Given the description of an element on the screen output the (x, y) to click on. 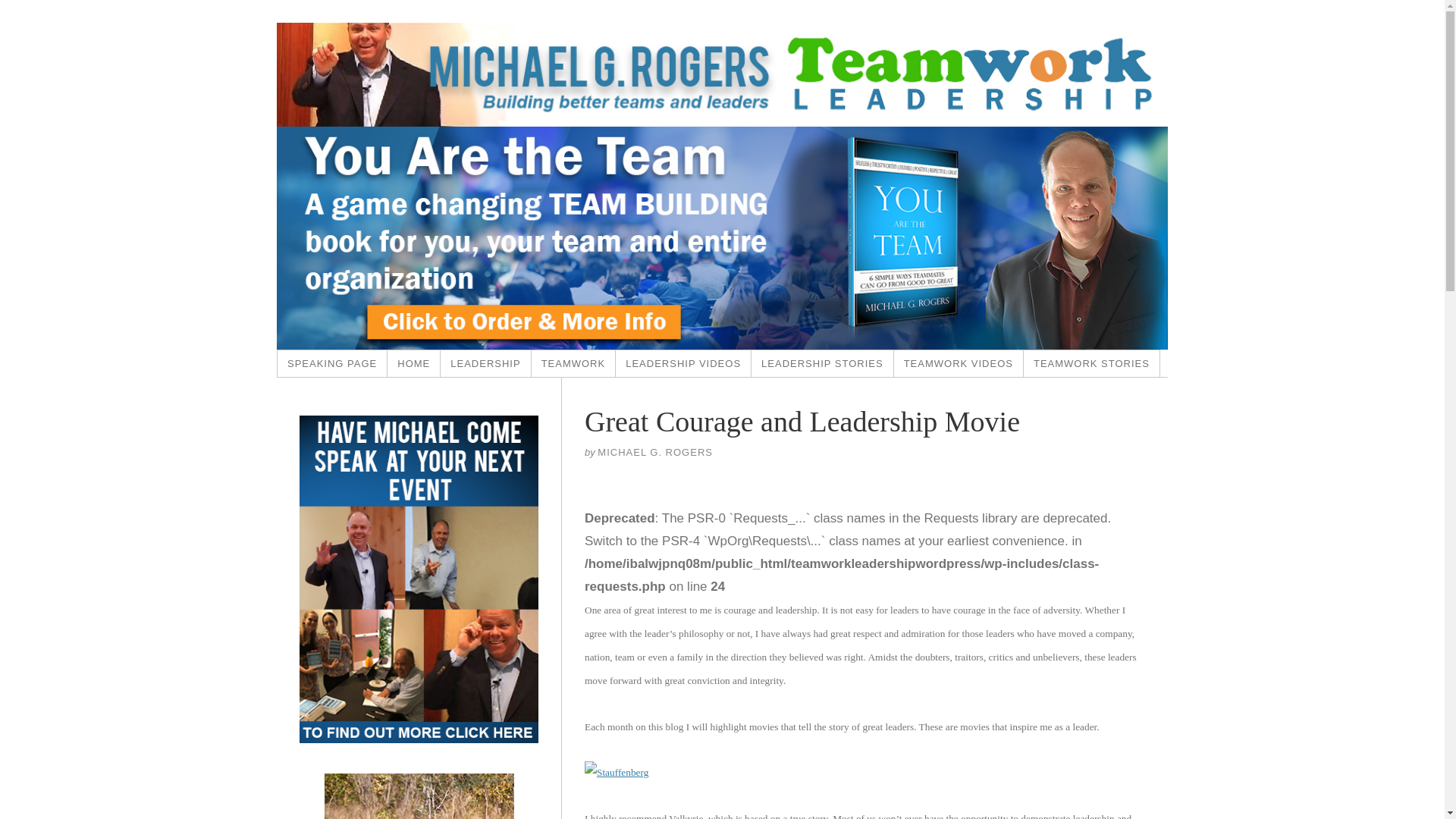
TEAMWORK STORIES (1091, 363)
TEAMWORK (573, 363)
Have Michael Come Speak to your Team or at your Next Event (332, 363)
SPEAKING PAGE (332, 363)
LEADERSHIP (486, 363)
TEAMWORK VIDEOS (958, 363)
LEADERSHIP STORIES (822, 363)
HOME (414, 363)
LEADERSHIP VIDEOS (683, 363)
